Given the description of an element on the screen output the (x, y) to click on. 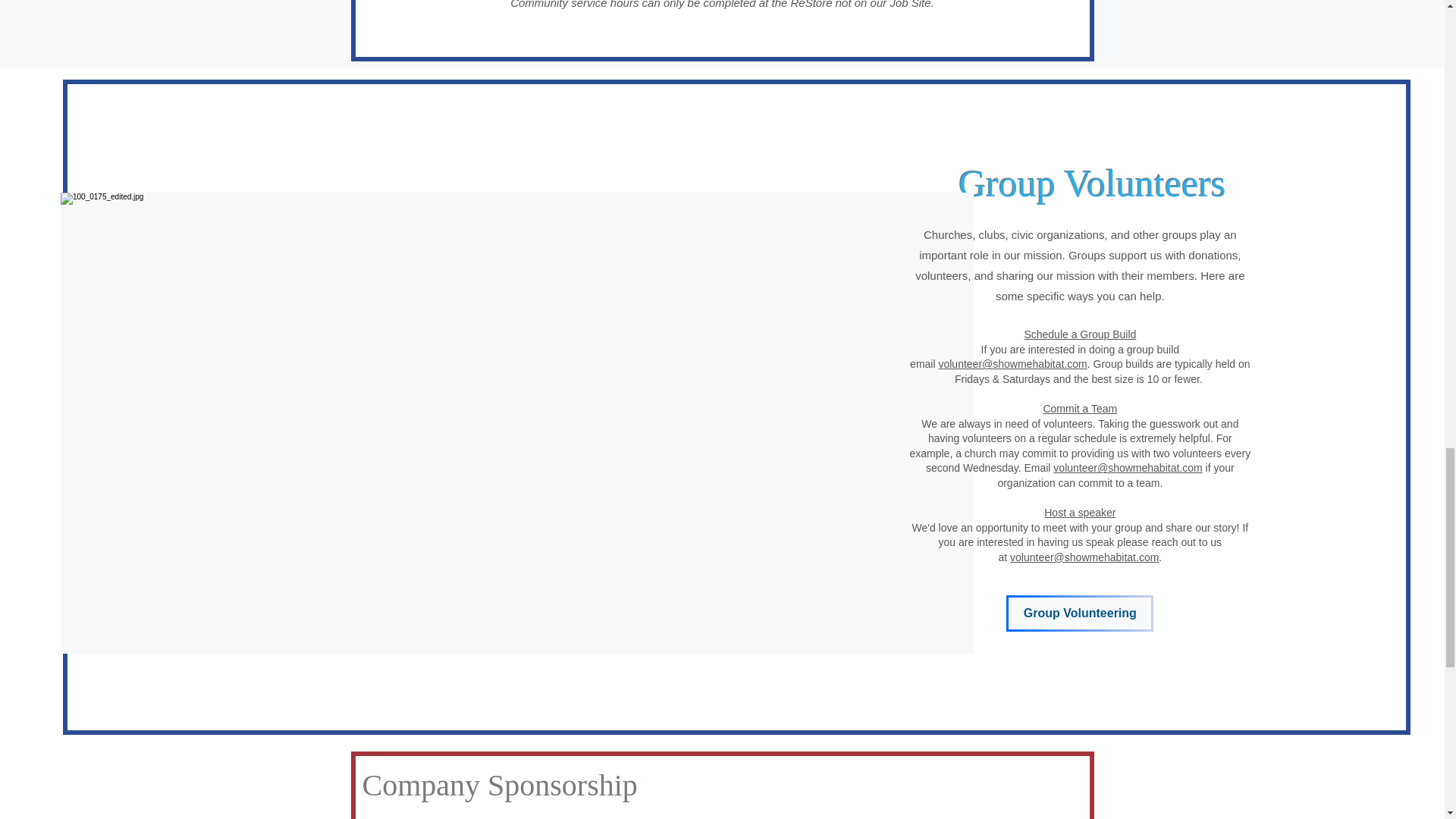
Group Volunteering (1079, 613)
Commit a Team (1079, 408)
Host a speaker (1079, 512)
Schedule a Group Build (1079, 334)
